Given the description of an element on the screen output the (x, y) to click on. 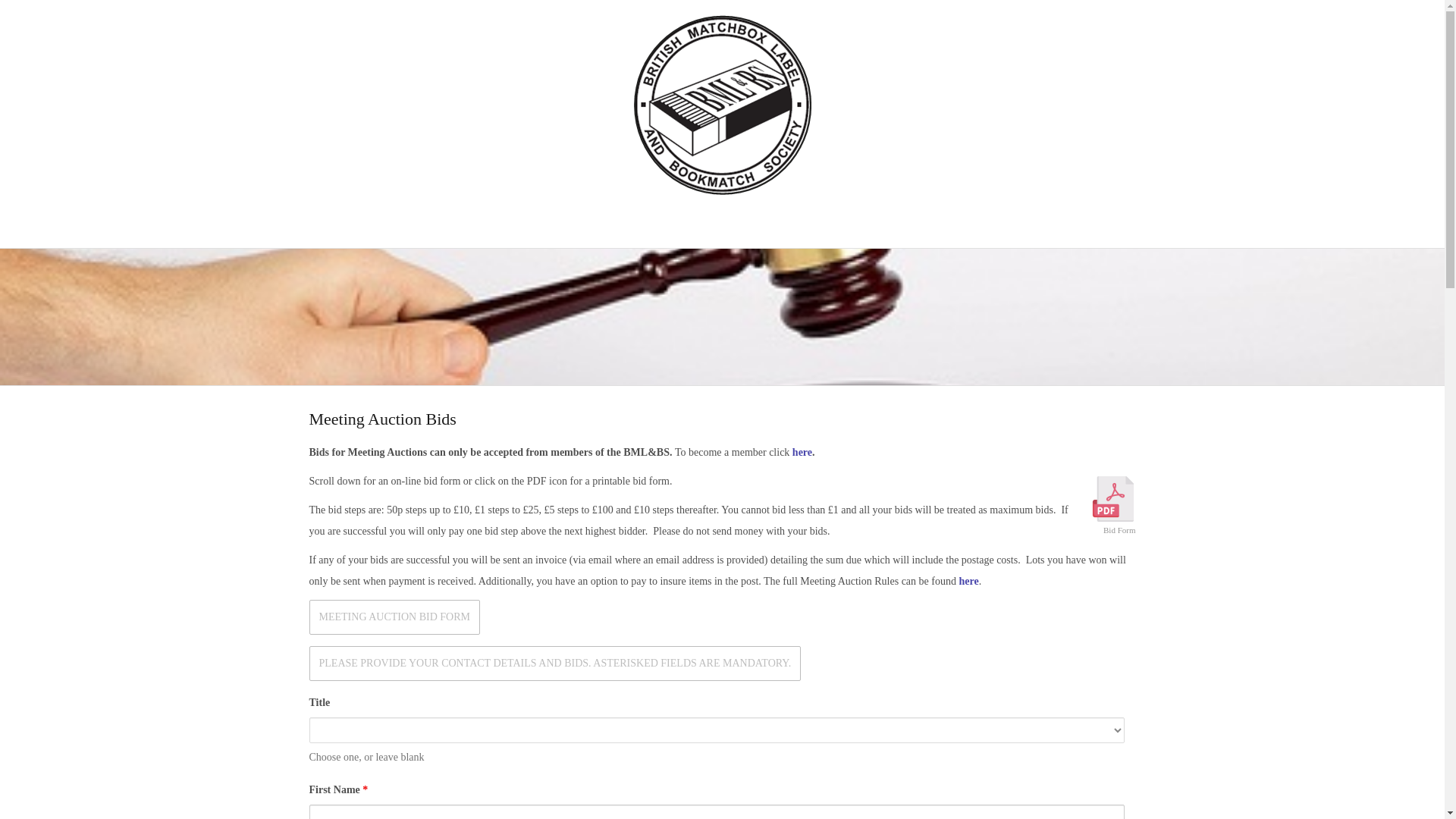
Meeting Auction Bid Form (394, 616)
Become a member (839, 220)
Phillumeny (476, 220)
Shop (944, 220)
Auctions (569, 220)
Contact us (1026, 220)
Home (398, 220)
British Matchbox Label and Bookmatch Society (721, 102)
Events (644, 220)
Magazine (722, 220)
